Given the description of an element on the screen output the (x, y) to click on. 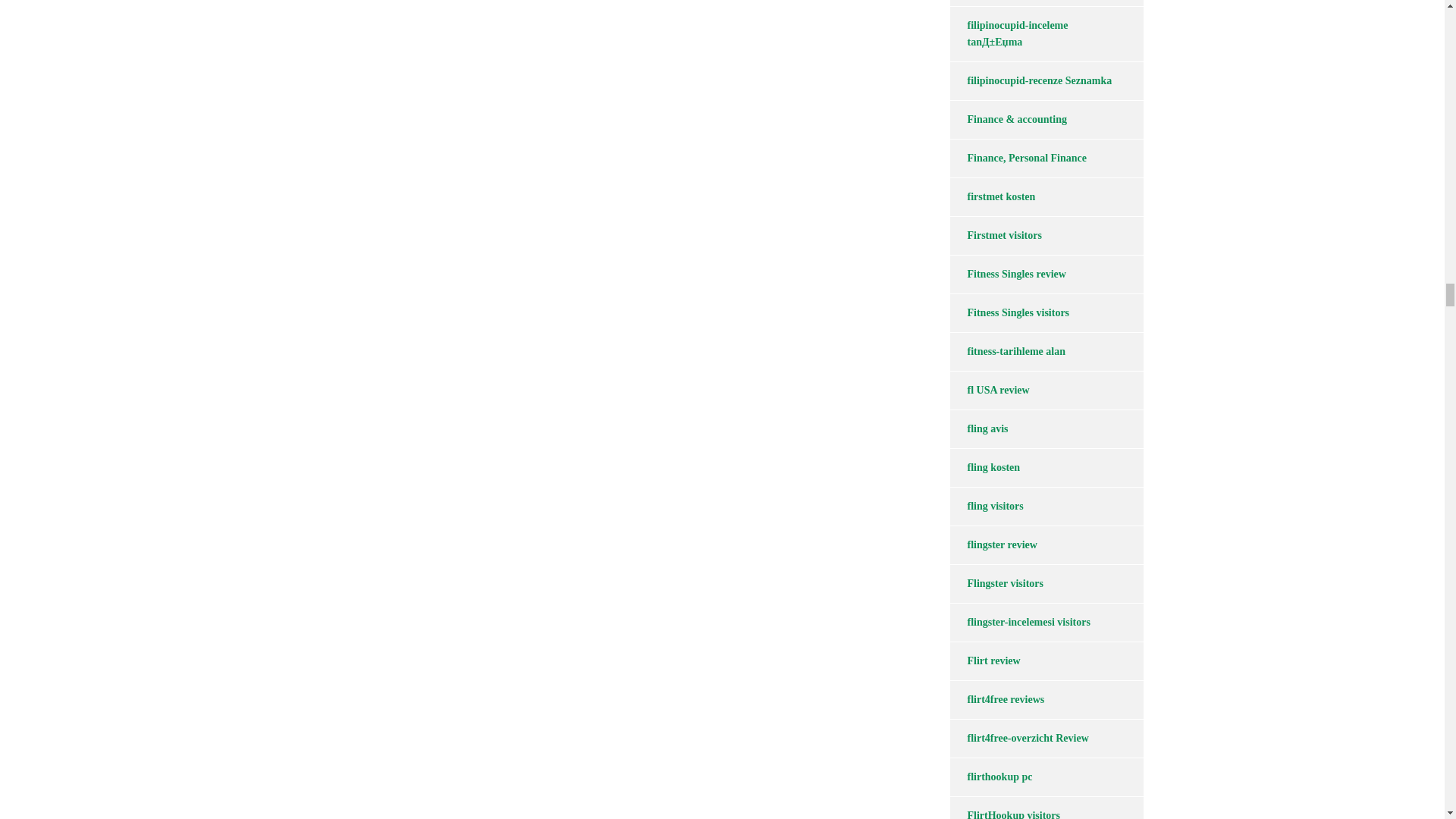
Finance, Personal Finance (1017, 158)
